Given the description of an element on the screen output the (x, y) to click on. 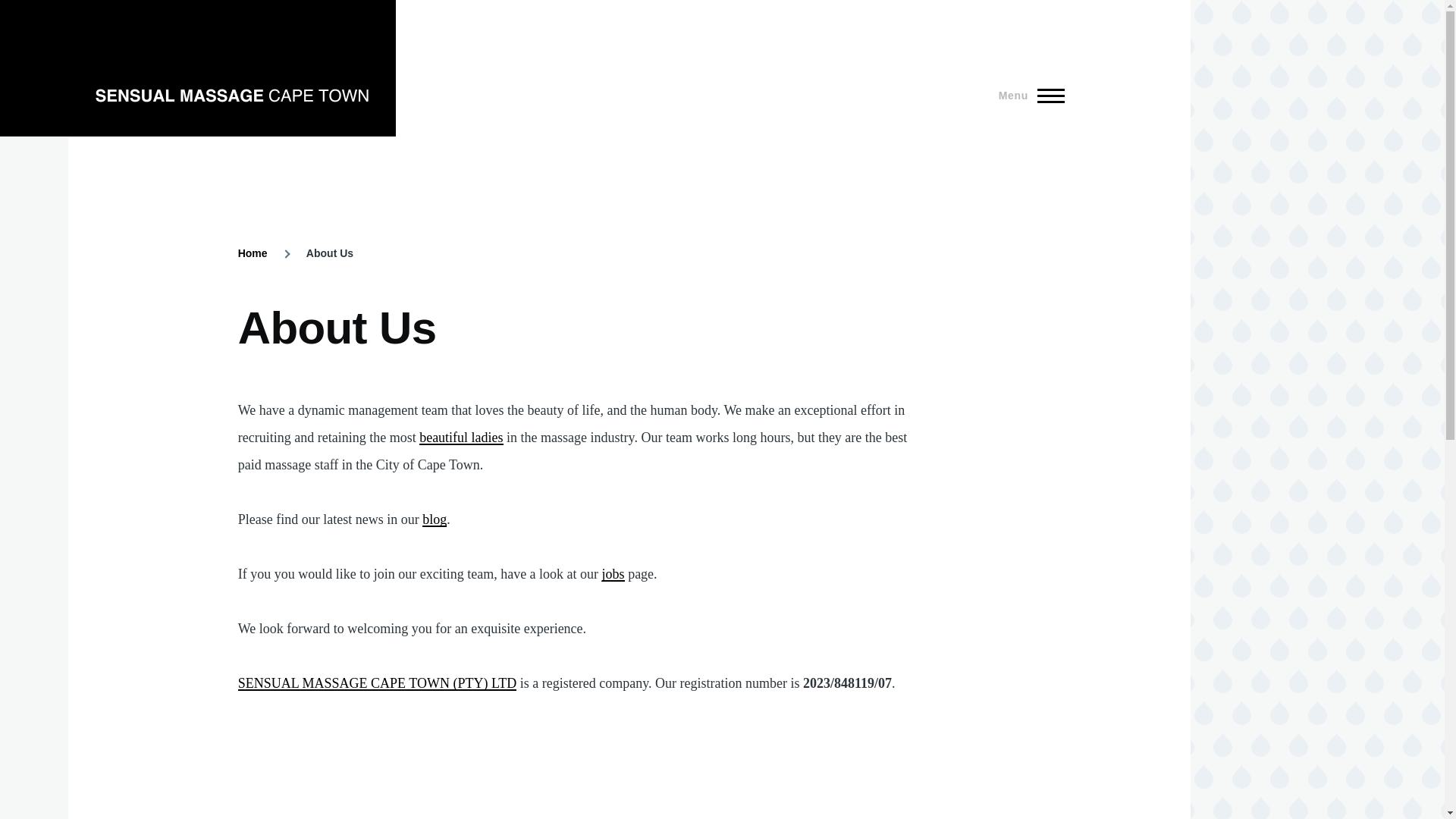
beautiful ladies (460, 437)
Menu (1026, 94)
blog (434, 519)
jobs (613, 573)
Skip to main content (595, 6)
Home (252, 253)
